Given the description of an element on the screen output the (x, y) to click on. 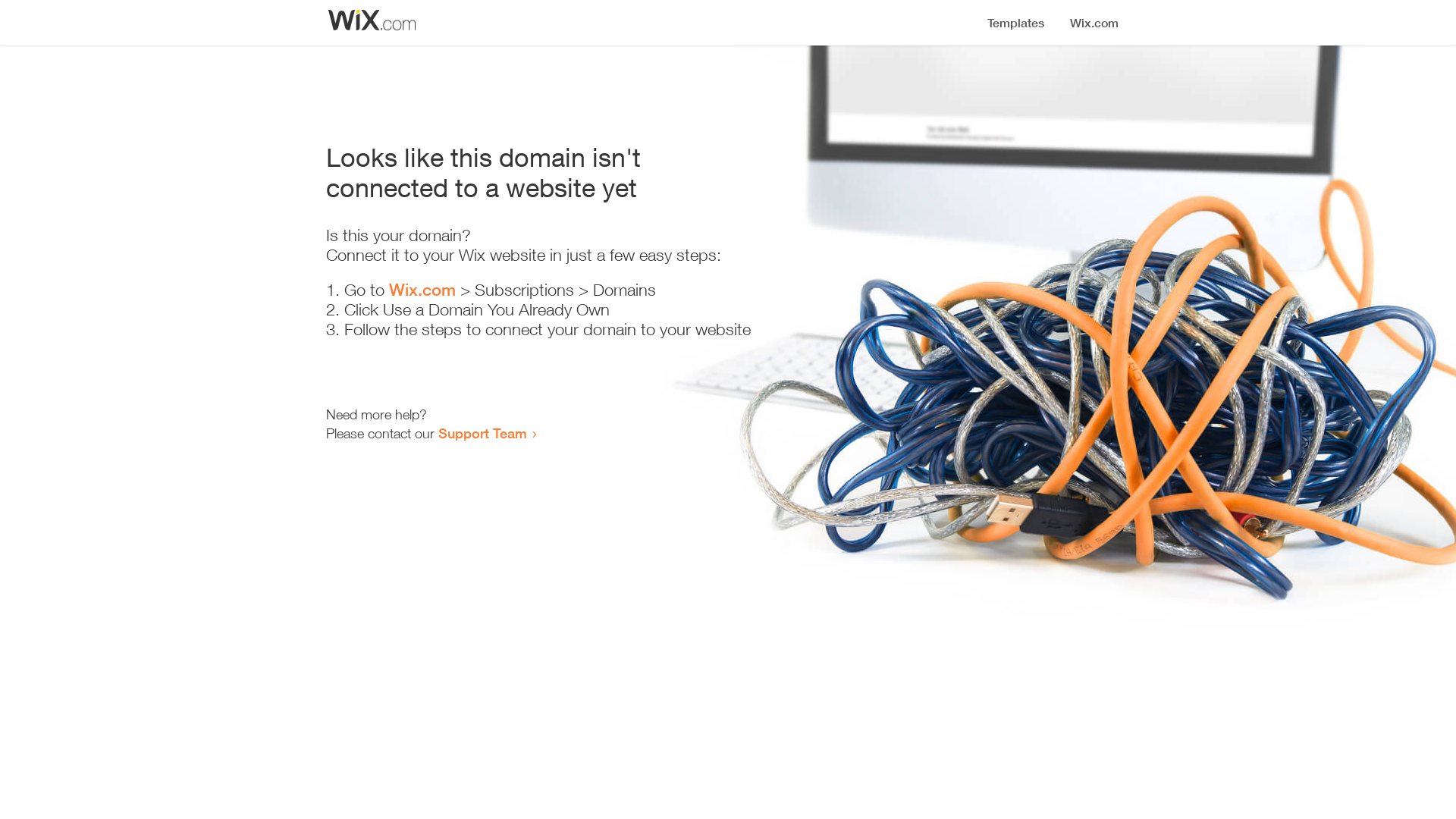
Wix.com Element type: text (422, 289)
Support Team Element type: text (482, 432)
